Given the description of an element on the screen output the (x, y) to click on. 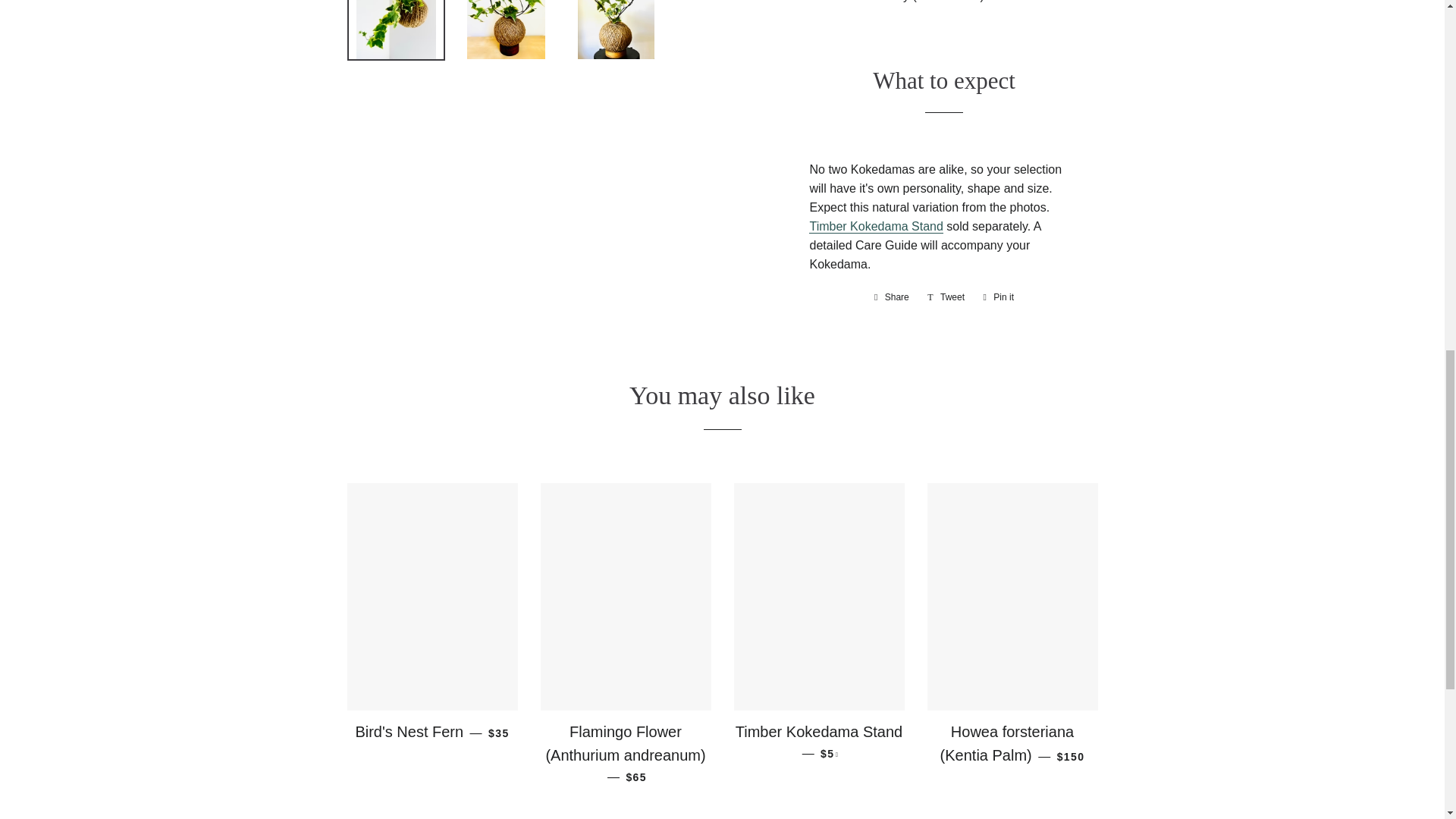
Timber Kokedama Stand (875, 226)
Tweet on Twitter (946, 297)
Pin on Pinterest (998, 297)
Share on Facebook (891, 297)
